Given the description of an element on the screen output the (x, y) to click on. 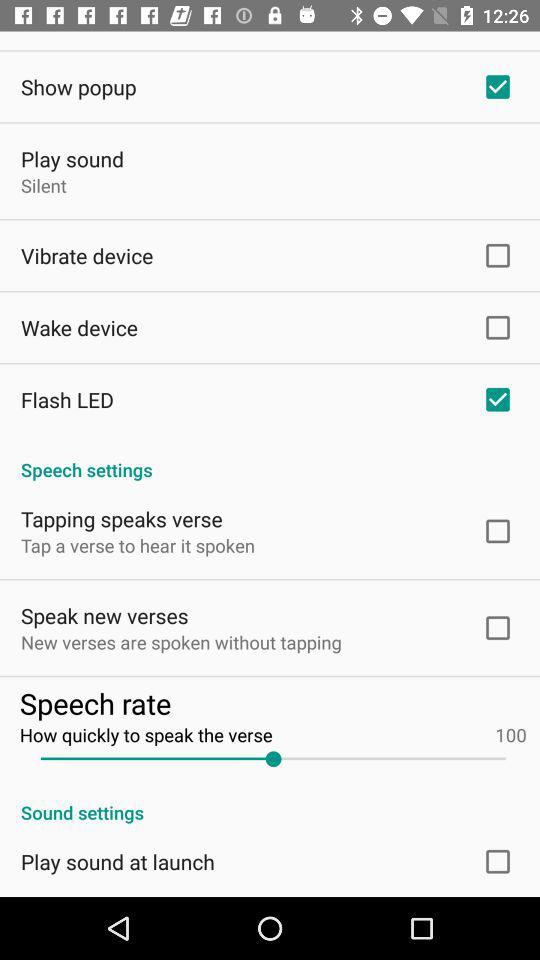
open item below new verses are app (272, 702)
